Given the description of an element on the screen output the (x, y) to click on. 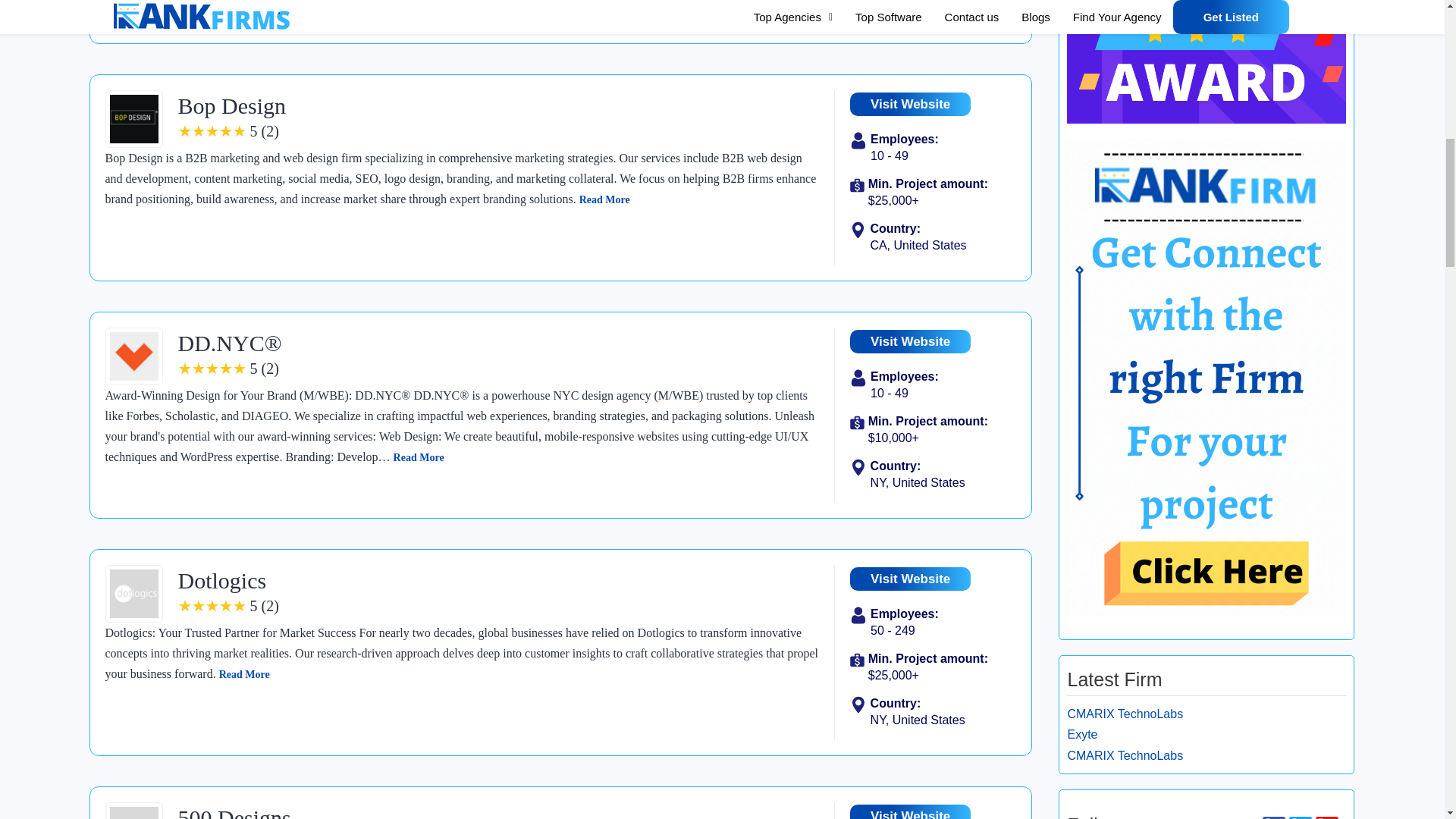
Bop Design (231, 105)
Dotlogics (221, 580)
Visit Website (910, 811)
Read More (244, 674)
Read More (604, 199)
Visit Website (910, 341)
Visit Website (910, 104)
Visit Website (910, 578)
Read More (418, 457)
500 Designs (233, 812)
